Given the description of an element on the screen output the (x, y) to click on. 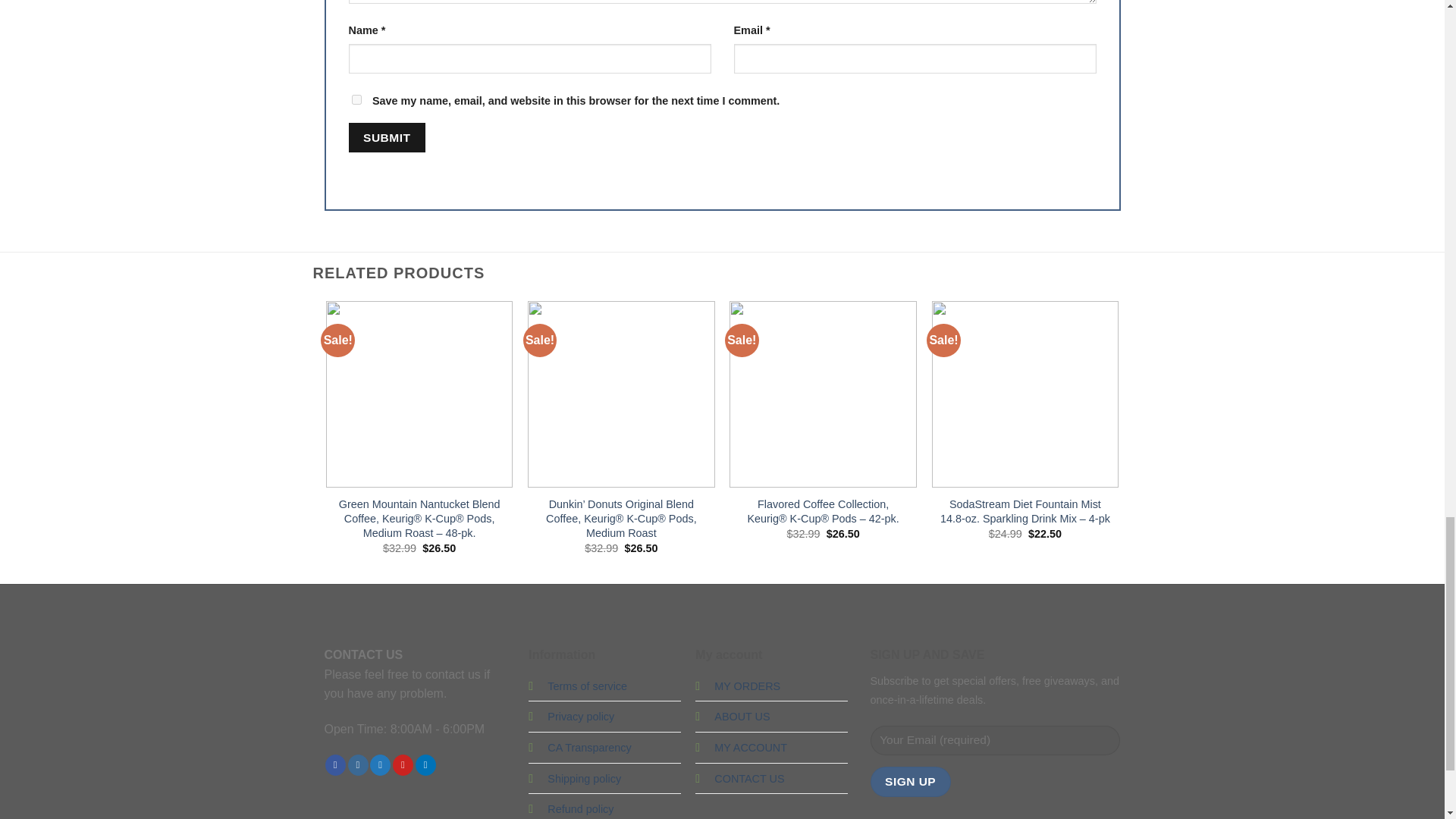
Submit (387, 137)
yes (356, 99)
Sign Up (910, 781)
